Given the description of an element on the screen output the (x, y) to click on. 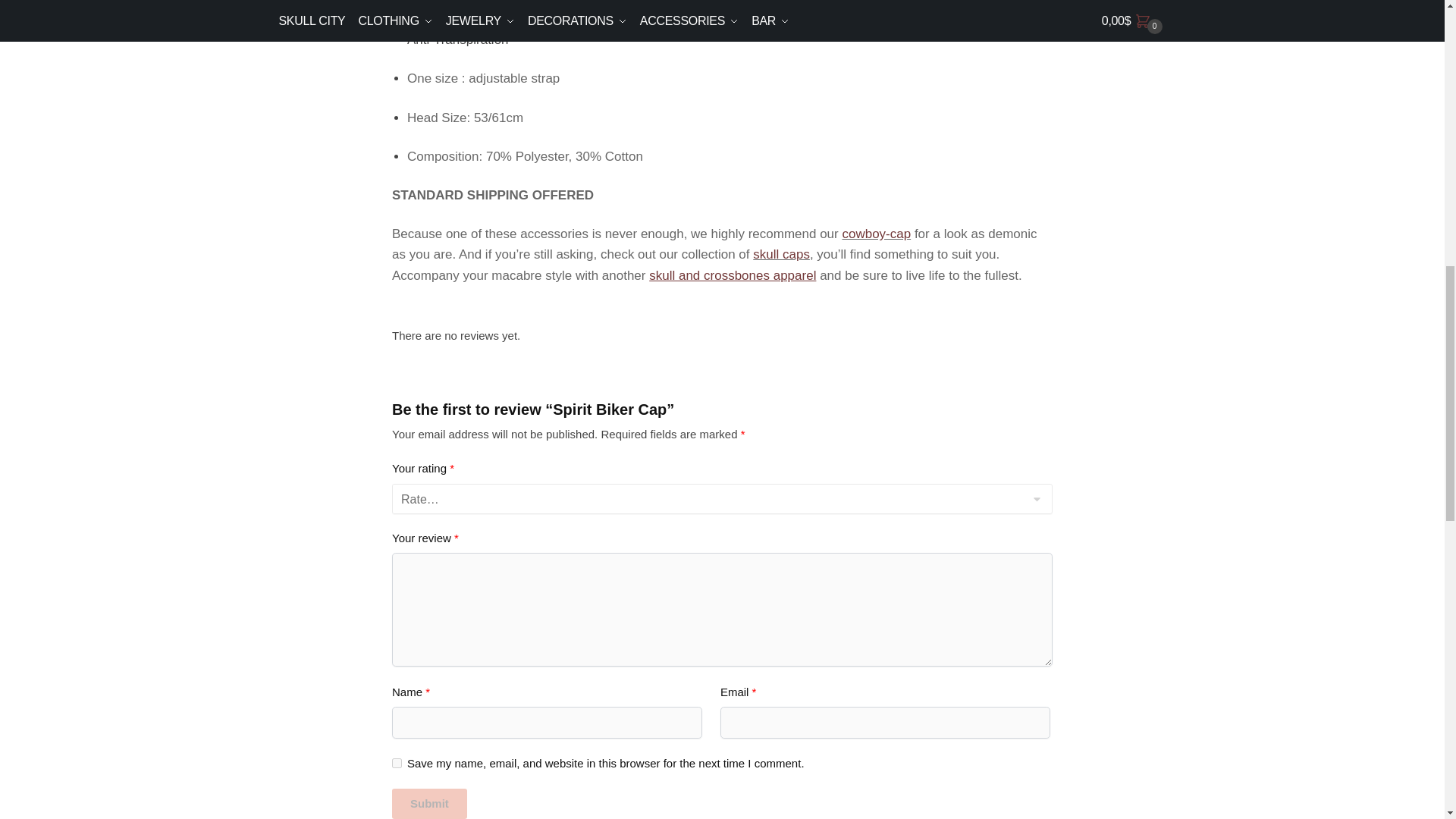
skull cap (780, 254)
Submit (429, 803)
yes (396, 763)
skull and crossbones apparel (732, 275)
cowboy-cap (876, 233)
